Given the description of an element on the screen output the (x, y) to click on. 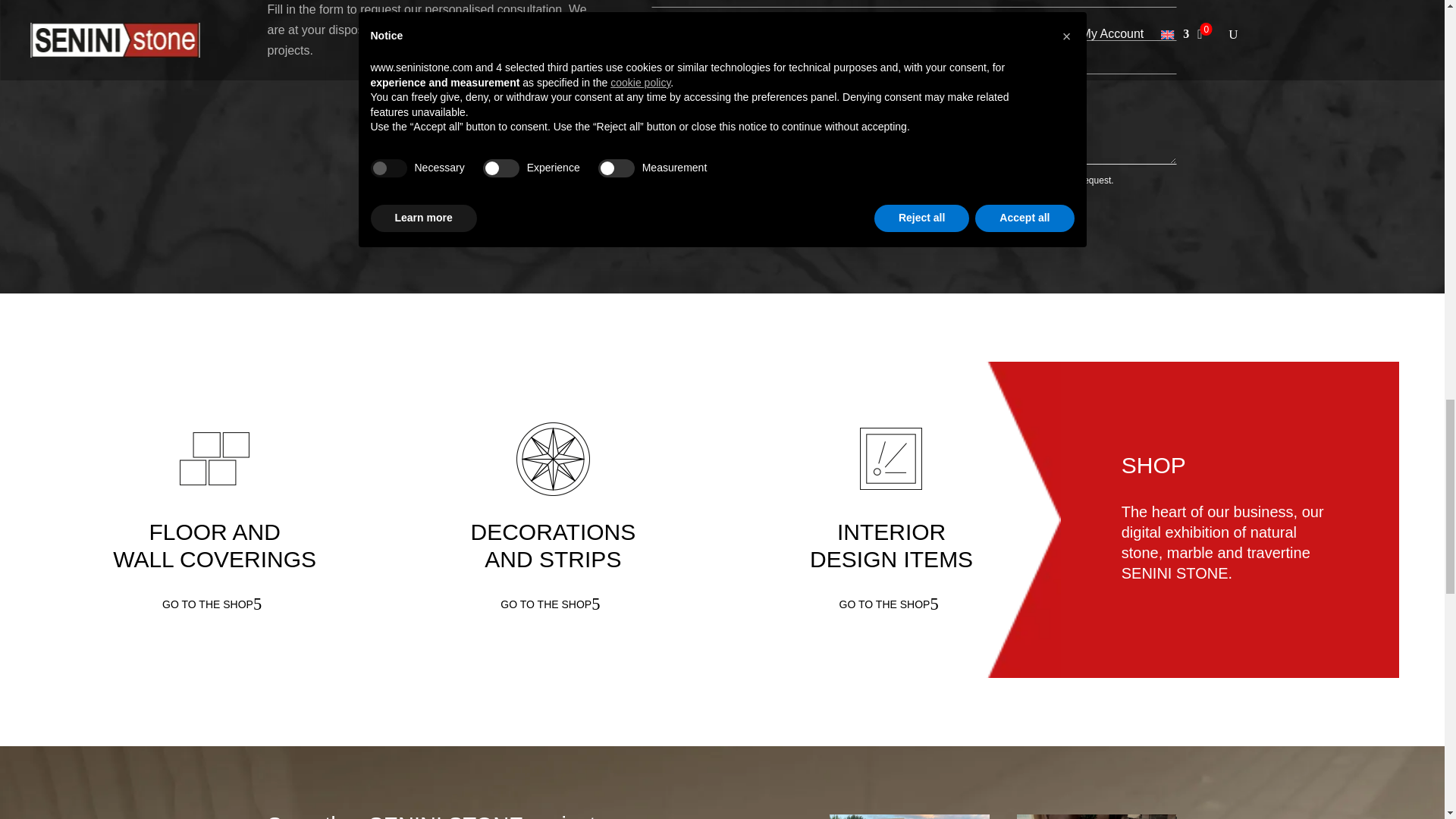
1 (667, 178)
Privacy Policy (956, 180)
